Given the description of an element on the screen output the (x, y) to click on. 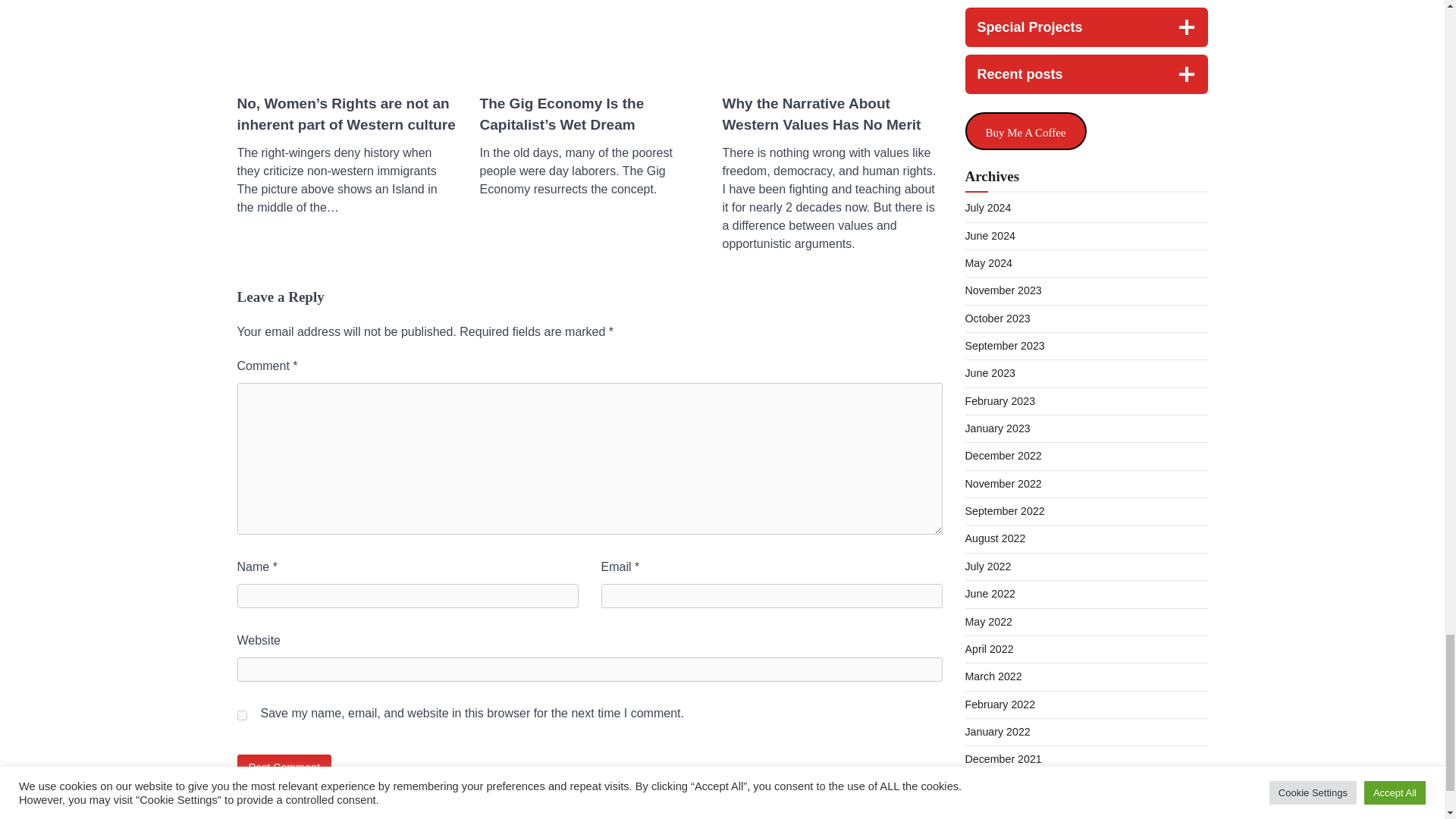
Learn how your comment data is processed (567, 813)
Post Comment (283, 766)
yes (240, 715)
Post Comment (283, 766)
Why the Narrative About Western Values Has No Merit (832, 114)
